Given the description of an element on the screen output the (x, y) to click on. 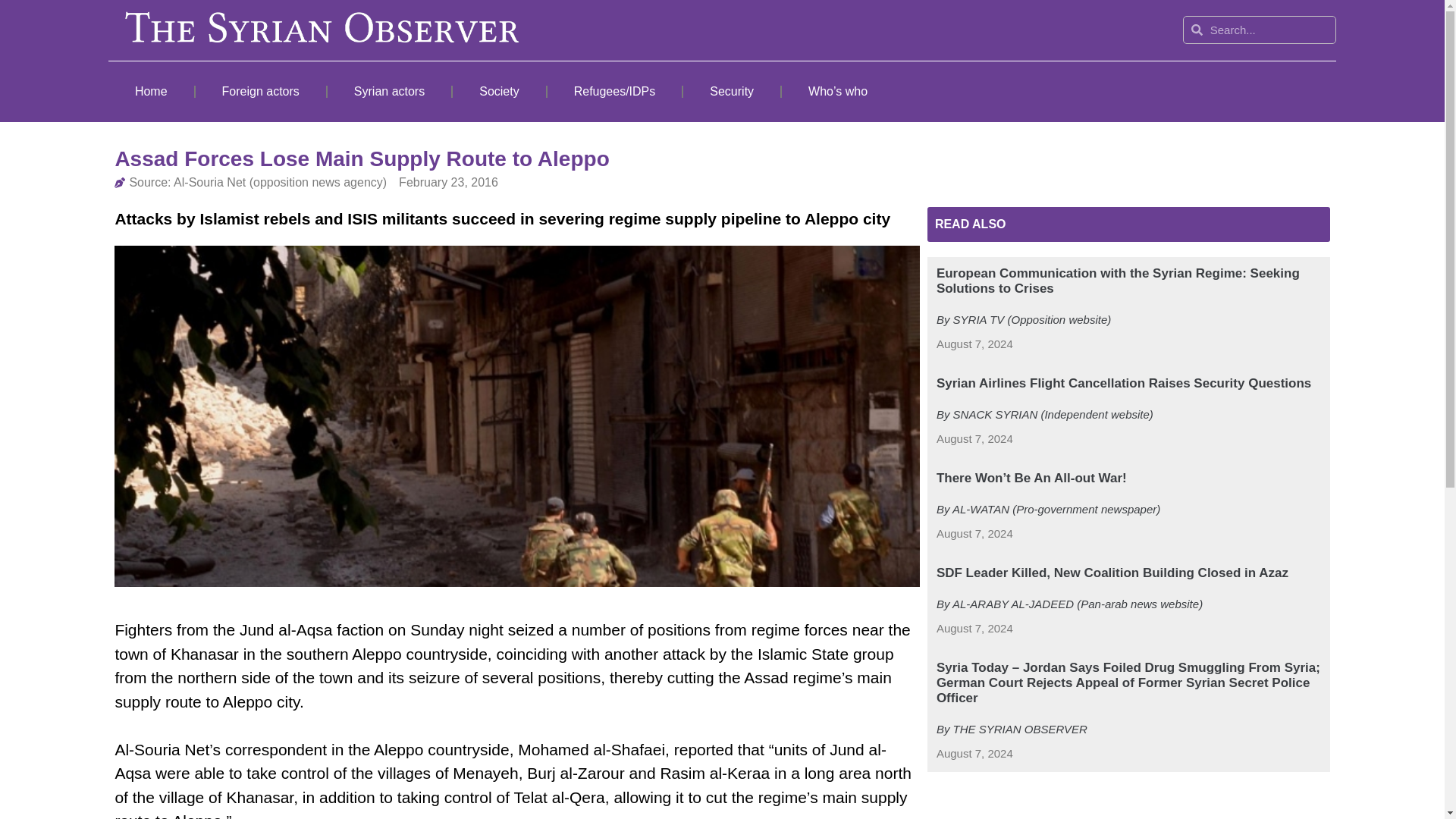
SDF Leader Killed, New Coalition Building Closed in Azaz (1112, 572)
Syrian actors (389, 91)
Society (498, 91)
August 7, 2024 (974, 753)
Home (150, 91)
Security (731, 91)
August 7, 2024 (974, 343)
August 7, 2024 (974, 628)
August 7, 2024 (974, 438)
